Given the description of an element on the screen output the (x, y) to click on. 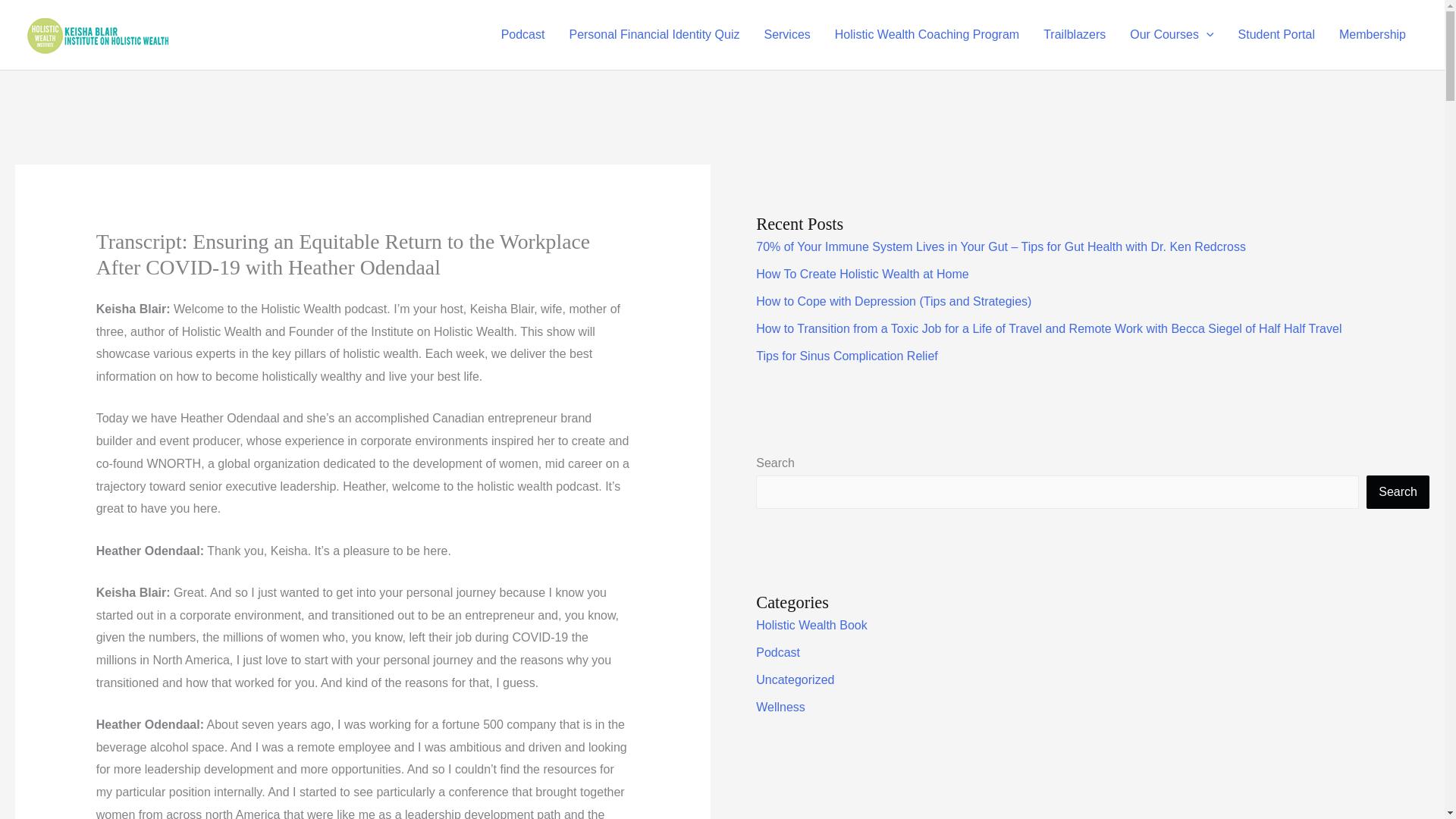
Podcast (777, 652)
Personal Financial Identity Quiz (653, 34)
Tips for Sinus Complication Relief (846, 355)
Wellness (780, 707)
Holistic Wealth Coaching Program (926, 34)
Holistic Wealth Book (810, 625)
Trailblazers (1074, 34)
Uncategorized (794, 679)
Podcast (523, 34)
Our Courses (1171, 34)
